Given the description of an element on the screen output the (x, y) to click on. 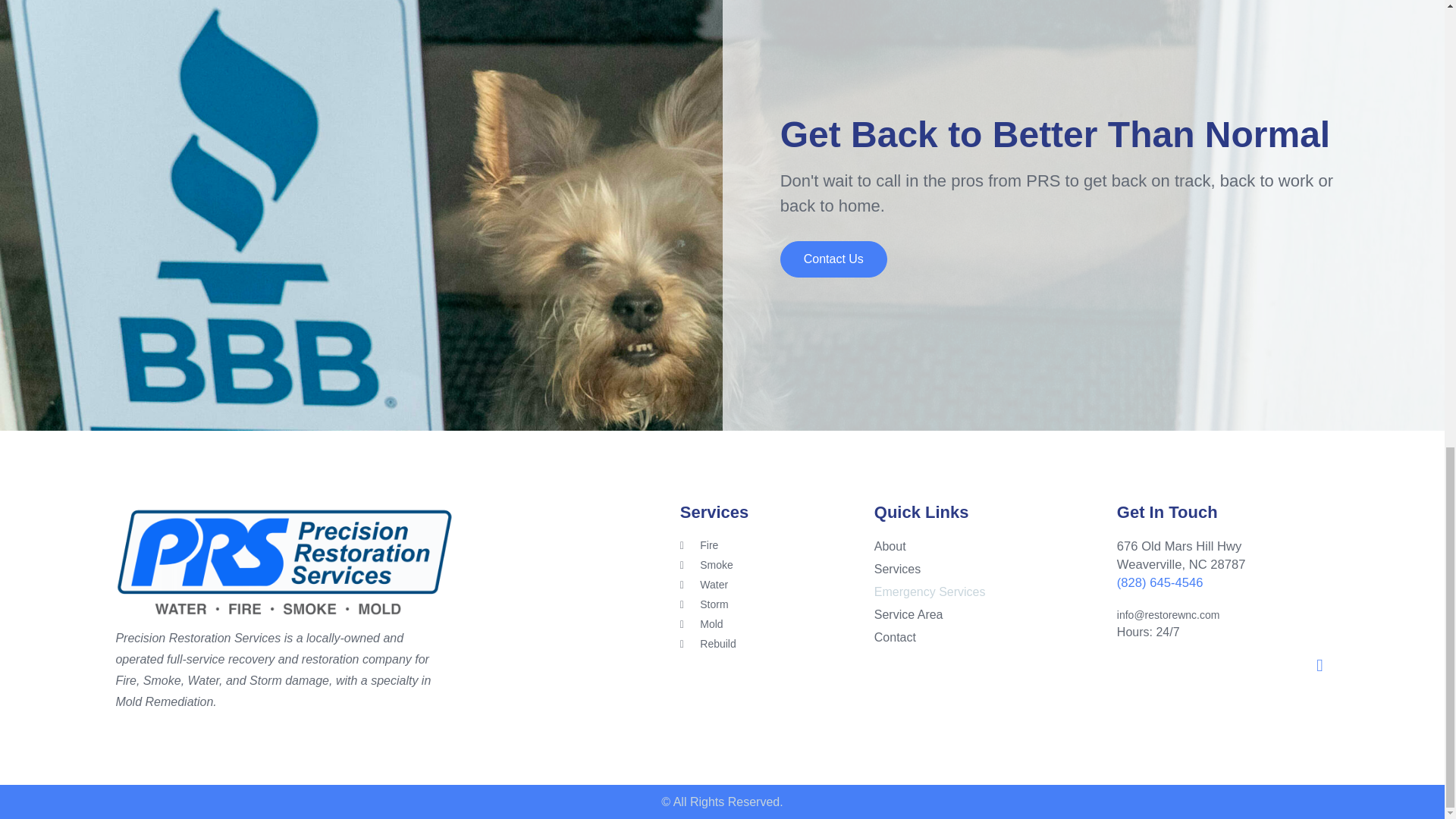
Rebuild (777, 643)
Mold (777, 624)
Contact Us (833, 258)
Services (993, 569)
Smoke (777, 565)
Service Area (993, 615)
Water (777, 584)
About (993, 546)
Contact (993, 637)
Storm (777, 604)
Emergency Services (993, 592)
Fire (777, 545)
